Given the description of an element on the screen output the (x, y) to click on. 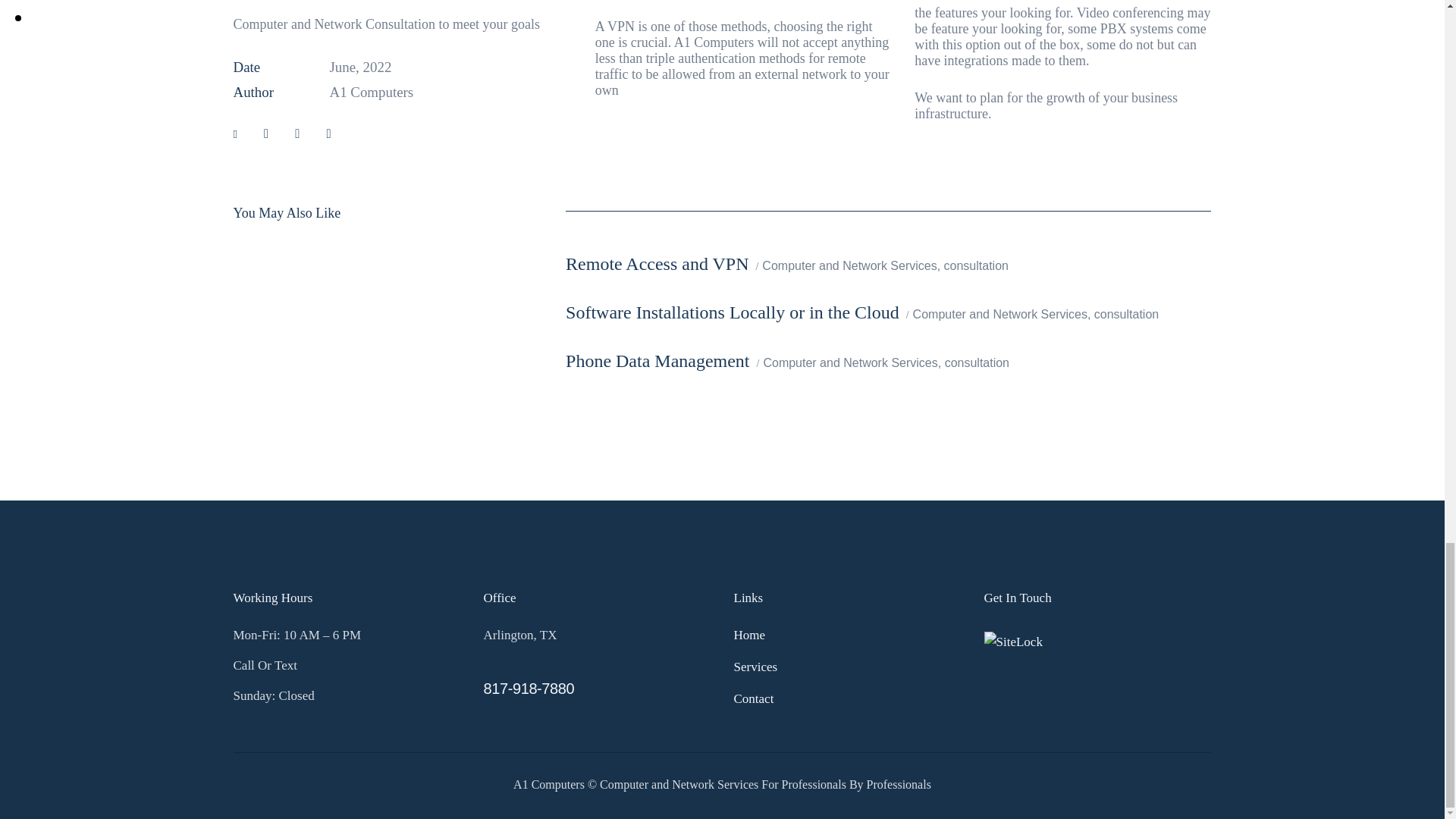
View all posts in Computer and Network Services (848, 265)
View all posts in Computer and Network Services (999, 314)
View all posts in consultation (976, 265)
View all posts in Computer and Network Services (849, 362)
View all posts in consultation (1126, 314)
View all posts in consultation (976, 362)
SiteLock (1013, 641)
